Given the description of an element on the screen output the (x, y) to click on. 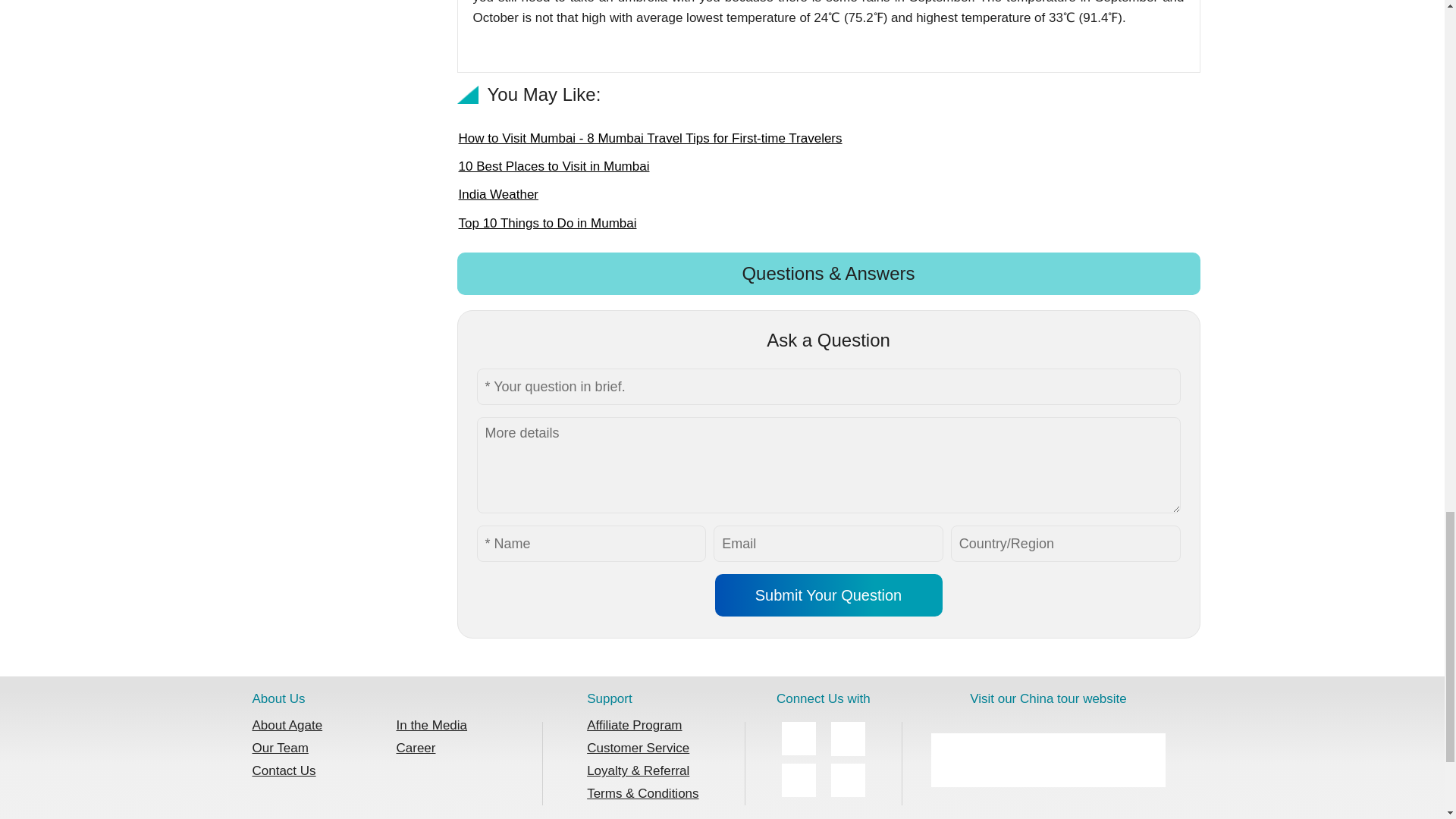
Submit Your Question (828, 595)
